Given the description of an element on the screen output the (x, y) to click on. 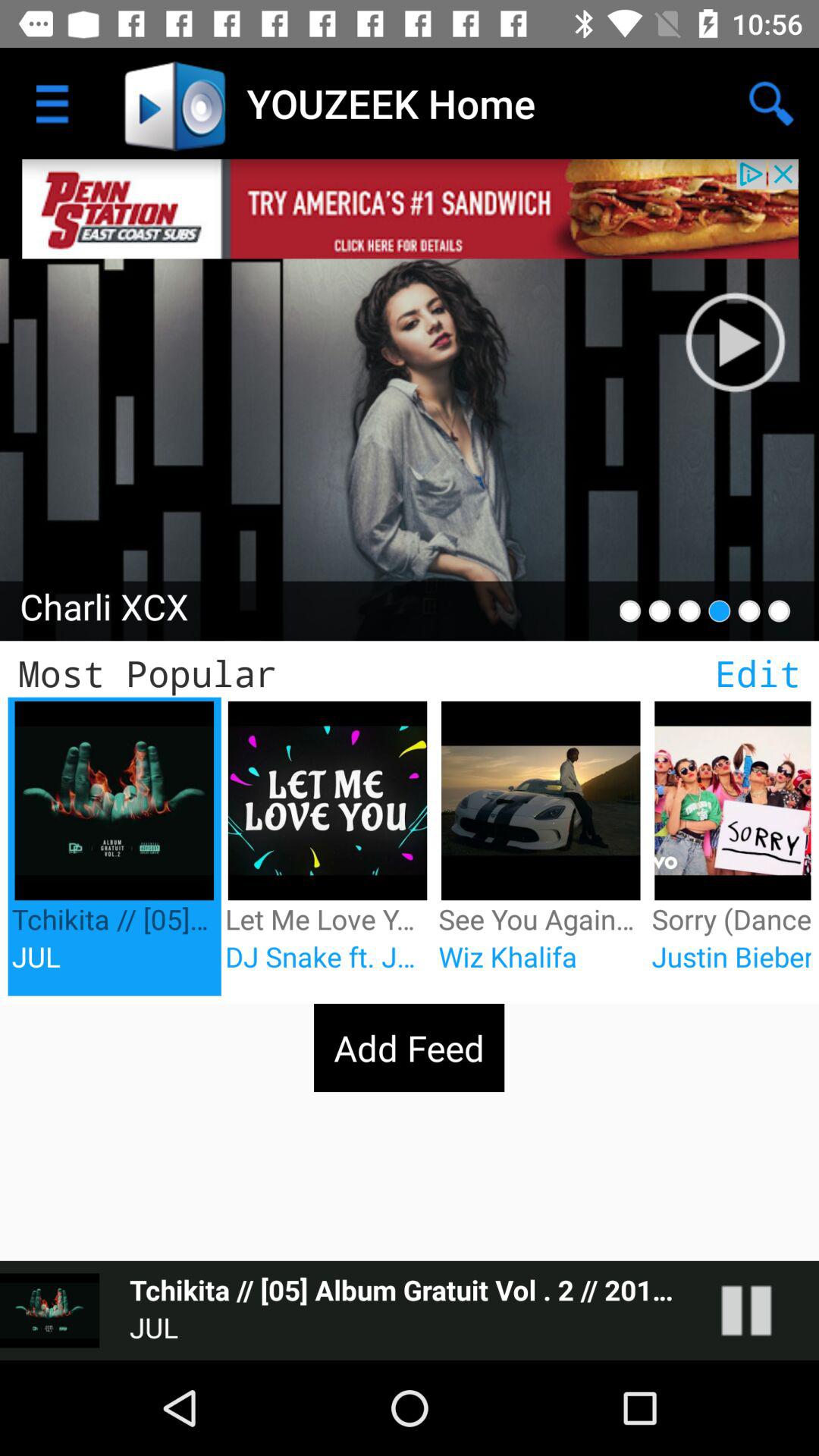
pause and play button (761, 1310)
